Given the description of an element on the screen output the (x, y) to click on. 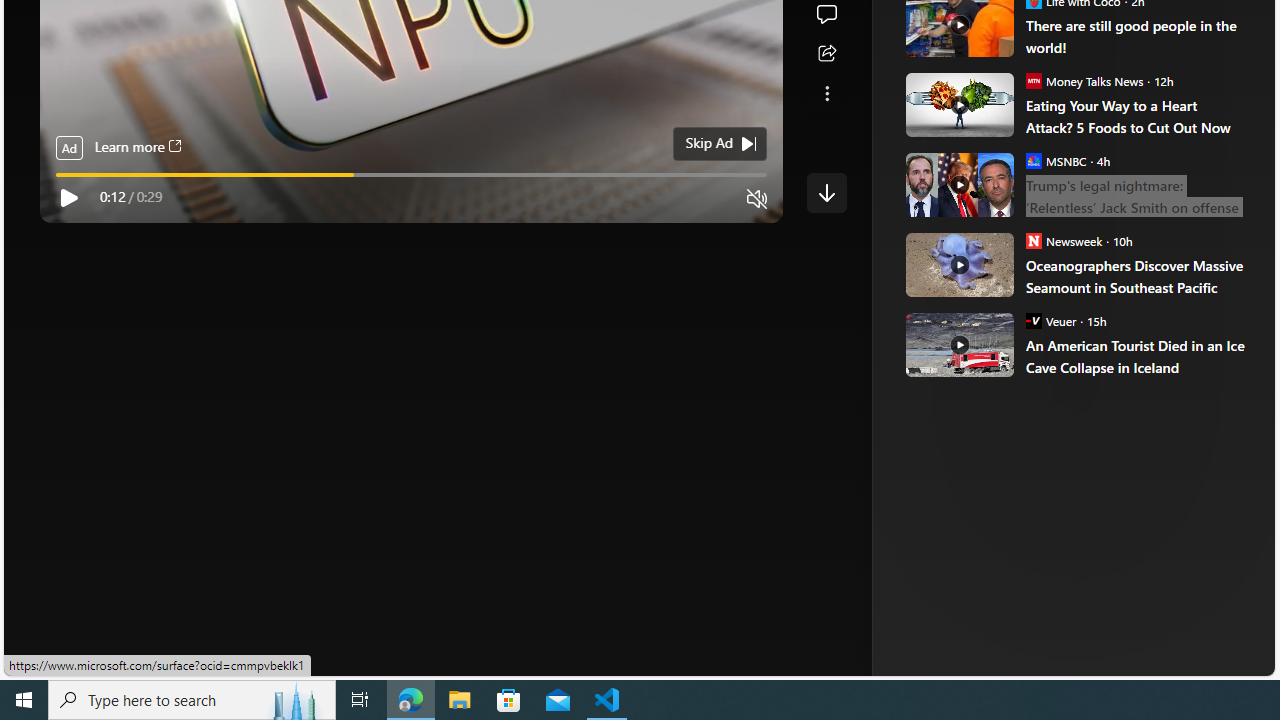
video progress bar (411, 174)
Share this story (826, 53)
Skip Ad (708, 143)
Share this story (826, 53)
MSNBC (1033, 160)
Veuer (1033, 320)
Veuer Veuer (1050, 320)
Newsweek Newsweek (1064, 240)
Eating Your Way to a Heart Attack? 5 Foods to Cut Out Now (1136, 116)
Play (68, 197)
Newsweek (1033, 240)
